Given the description of an element on the screen output the (x, y) to click on. 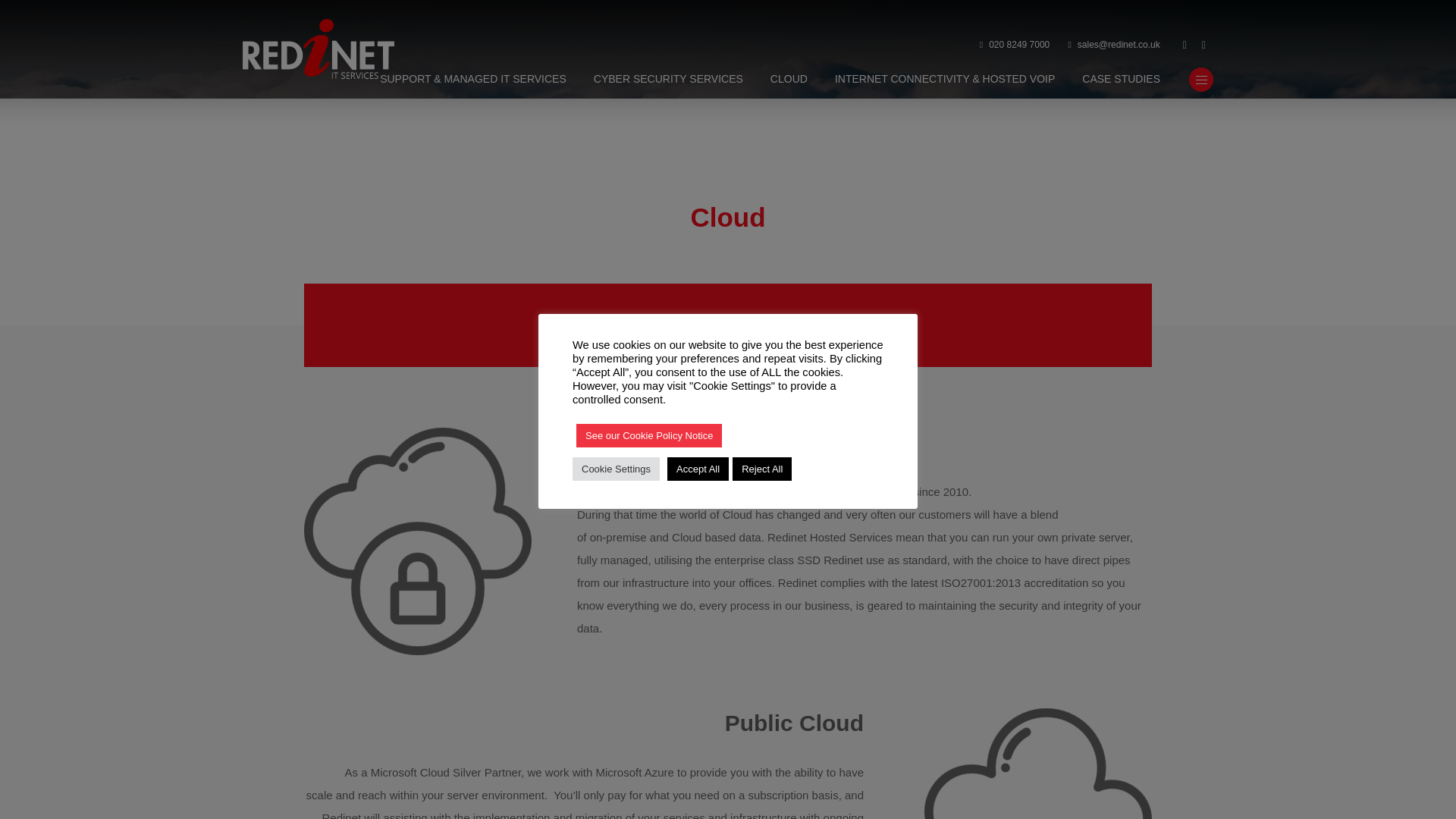
See our Cookie Policy Notice (649, 434)
Reject All (762, 467)
Cookie Settings (615, 467)
CLOUD (789, 79)
Accept All (697, 467)
020 8249 7000 (1014, 45)
CLOUD (789, 79)
CYBER SECURITY SERVICES (668, 79)
CASE STUDIES (1120, 79)
CYBER SECURITY SERVICES (668, 79)
